Given the description of an element on the screen output the (x, y) to click on. 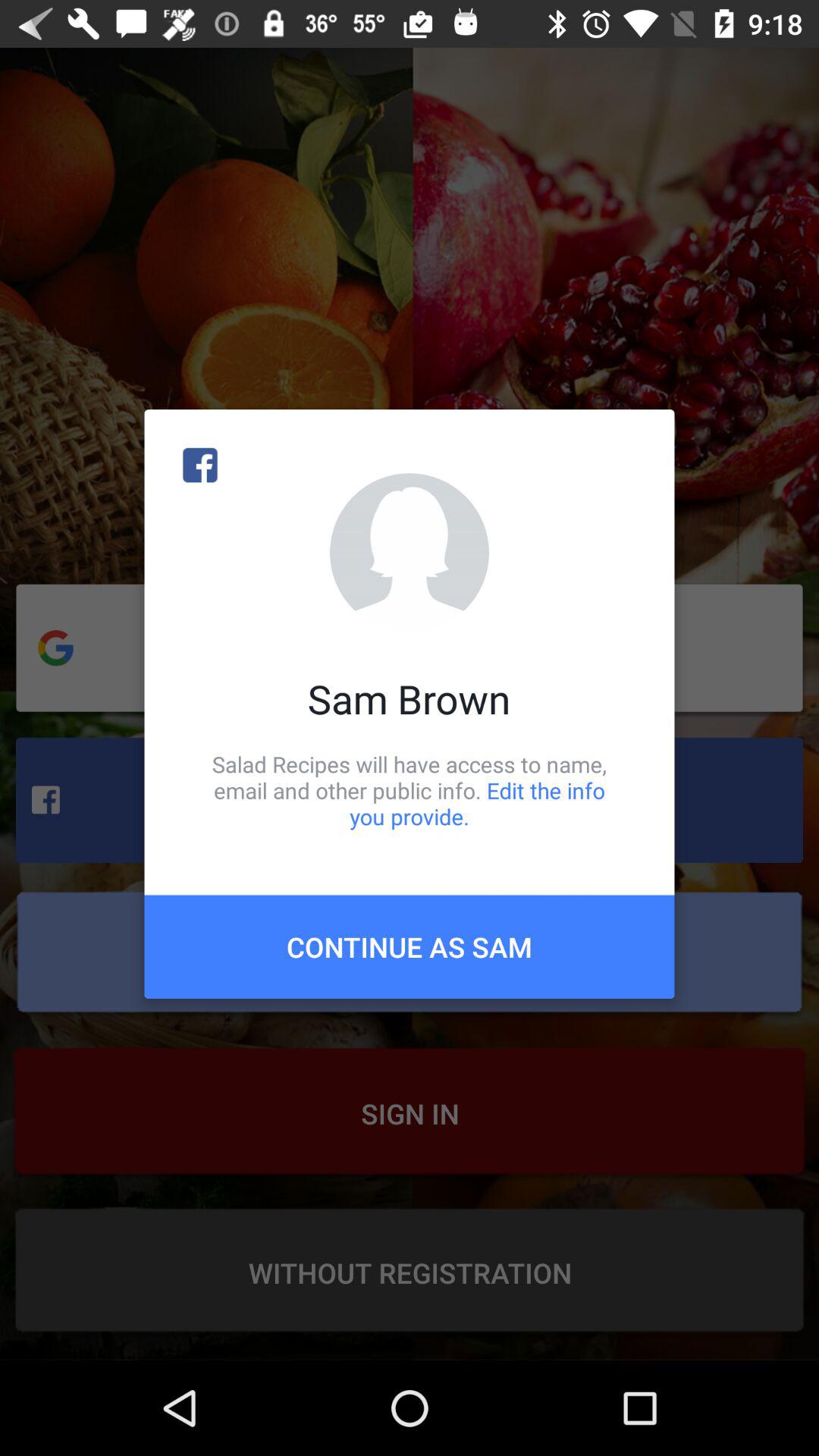
choose the continue as sam icon (409, 946)
